Given the description of an element on the screen output the (x, y) to click on. 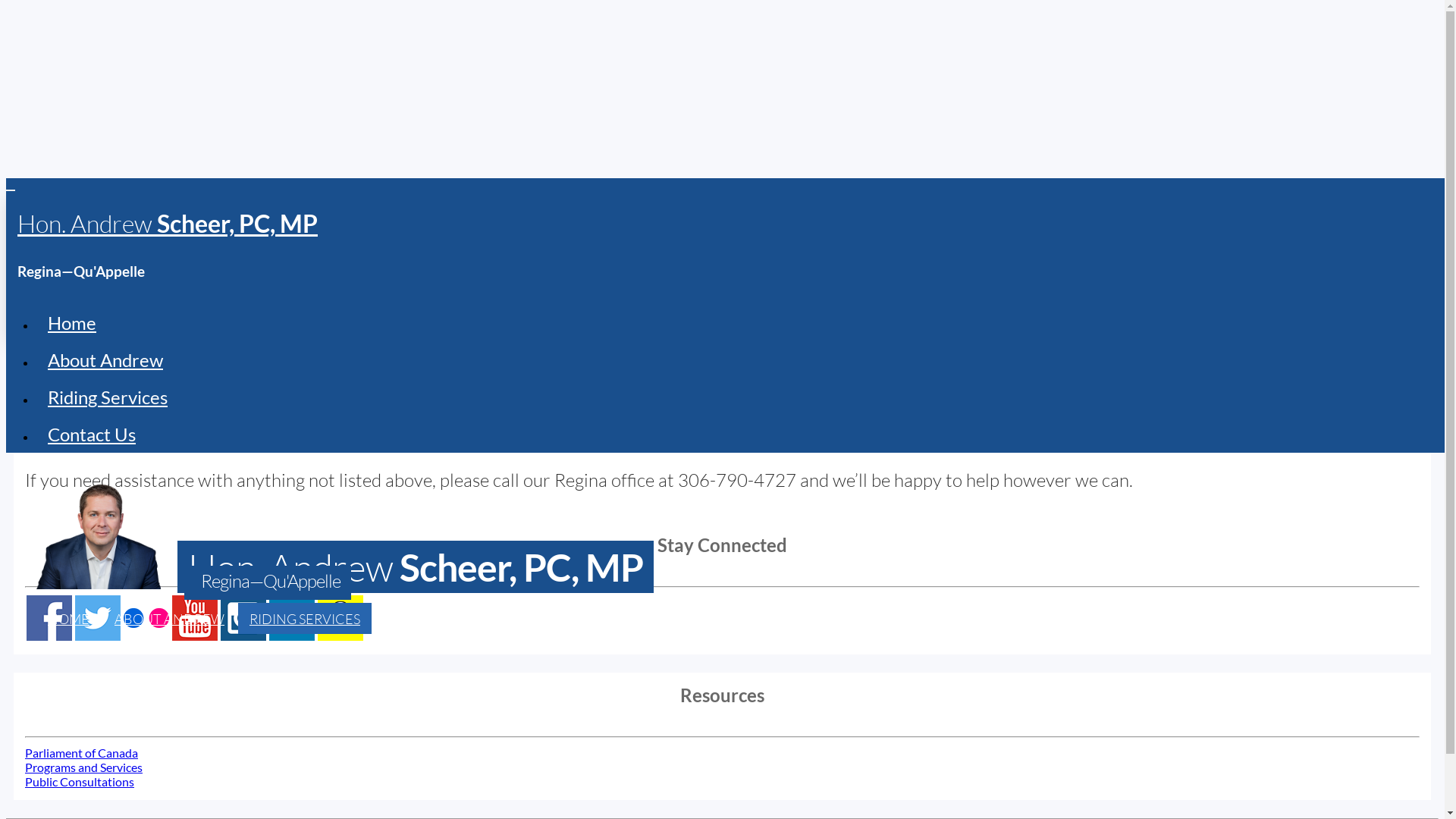
Contact Us Element type: text (743, 433)
About Andrew Element type: text (743, 359)
Riding Services Element type: text (743, 396)
HOME Element type: text (68, 618)
ABOUT ANDREW Element type: text (169, 618)
Programs and Services Element type: text (83, 766)
Hon. Andrew Scheer, PC, MP Element type: text (167, 223)
Parliament of Canada Element type: text (81, 752)
Public Consultations Element type: text (79, 781)
Home Element type: text (743, 322)
CONTACT US Element type: text (427, 618)
RIDING SERVICES Element type: text (304, 618)
